Given the description of an element on the screen output the (x, y) to click on. 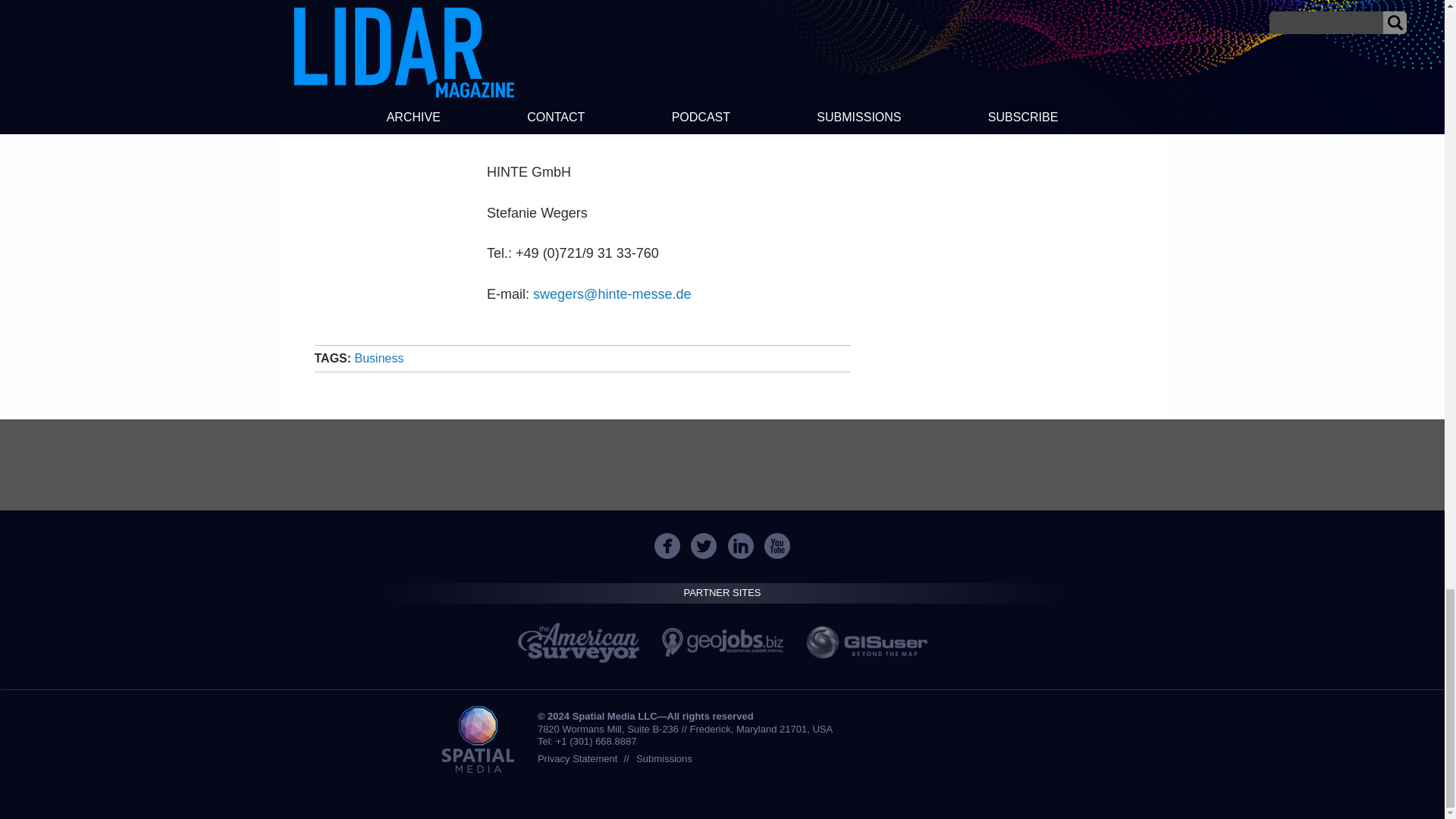
icon-sm-linkedin (741, 545)
3rd party ad content (721, 464)
Privacy Statement (577, 758)
icon-sm-twitter (703, 545)
icon-sm-youtube (776, 545)
icon-sm-fb (666, 545)
Submissions (664, 758)
icon-sm-fb (667, 545)
icon-sm-twitter (703, 545)
icon-sm-linkedin (740, 545)
icon-sm-youtube (777, 545)
Business (379, 358)
